Given the description of an element on the screen output the (x, y) to click on. 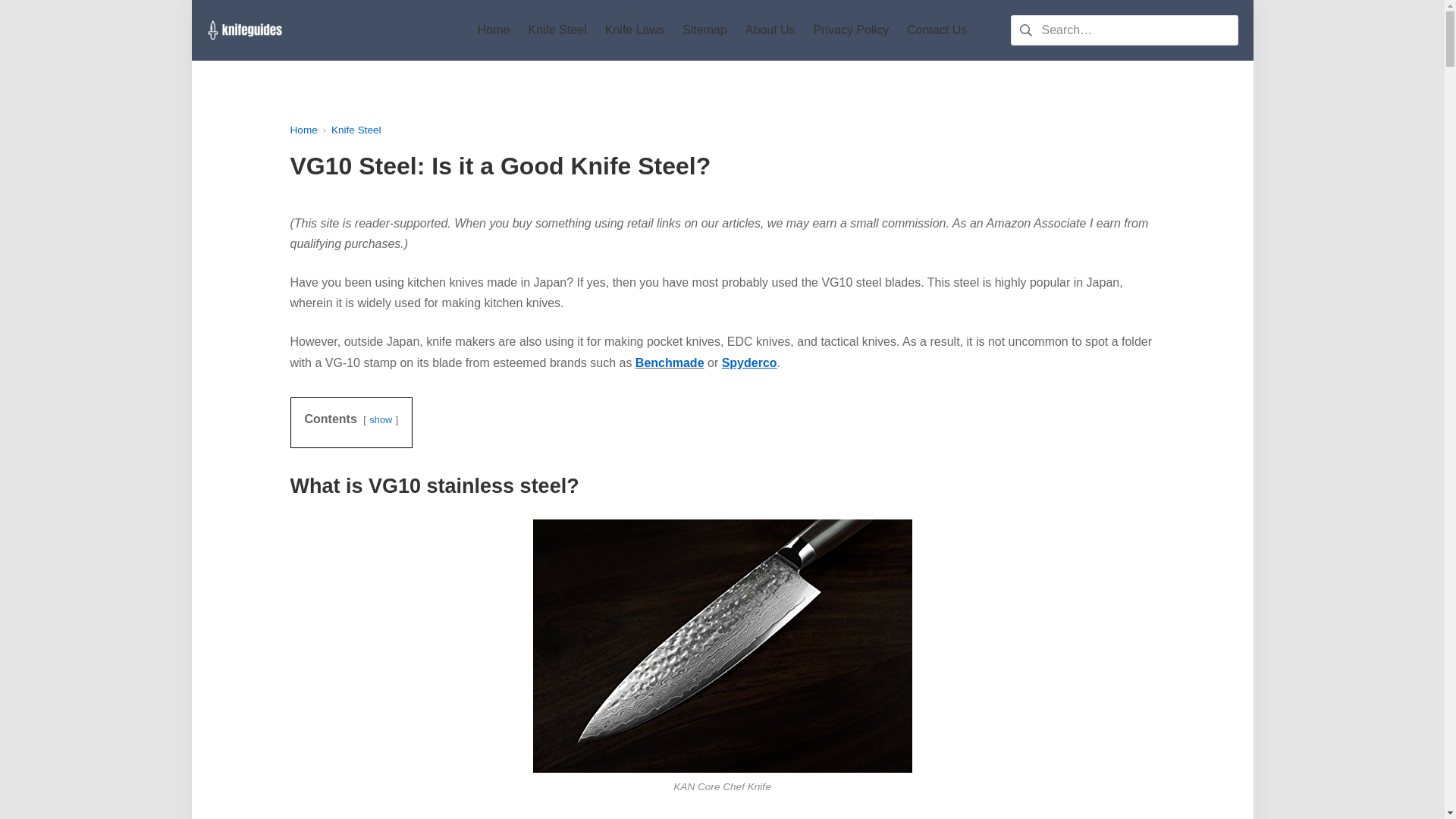
Home (494, 29)
Search (35, 15)
VG10 Steel: Is it a Good Knife Steel? 1 (721, 646)
Knife Laws (634, 29)
Contact Us (936, 29)
Benchmade (669, 362)
Privacy Policy (851, 29)
Home (303, 129)
Knife Steel (556, 29)
Sitemap (704, 29)
